Given the description of an element on the screen output the (x, y) to click on. 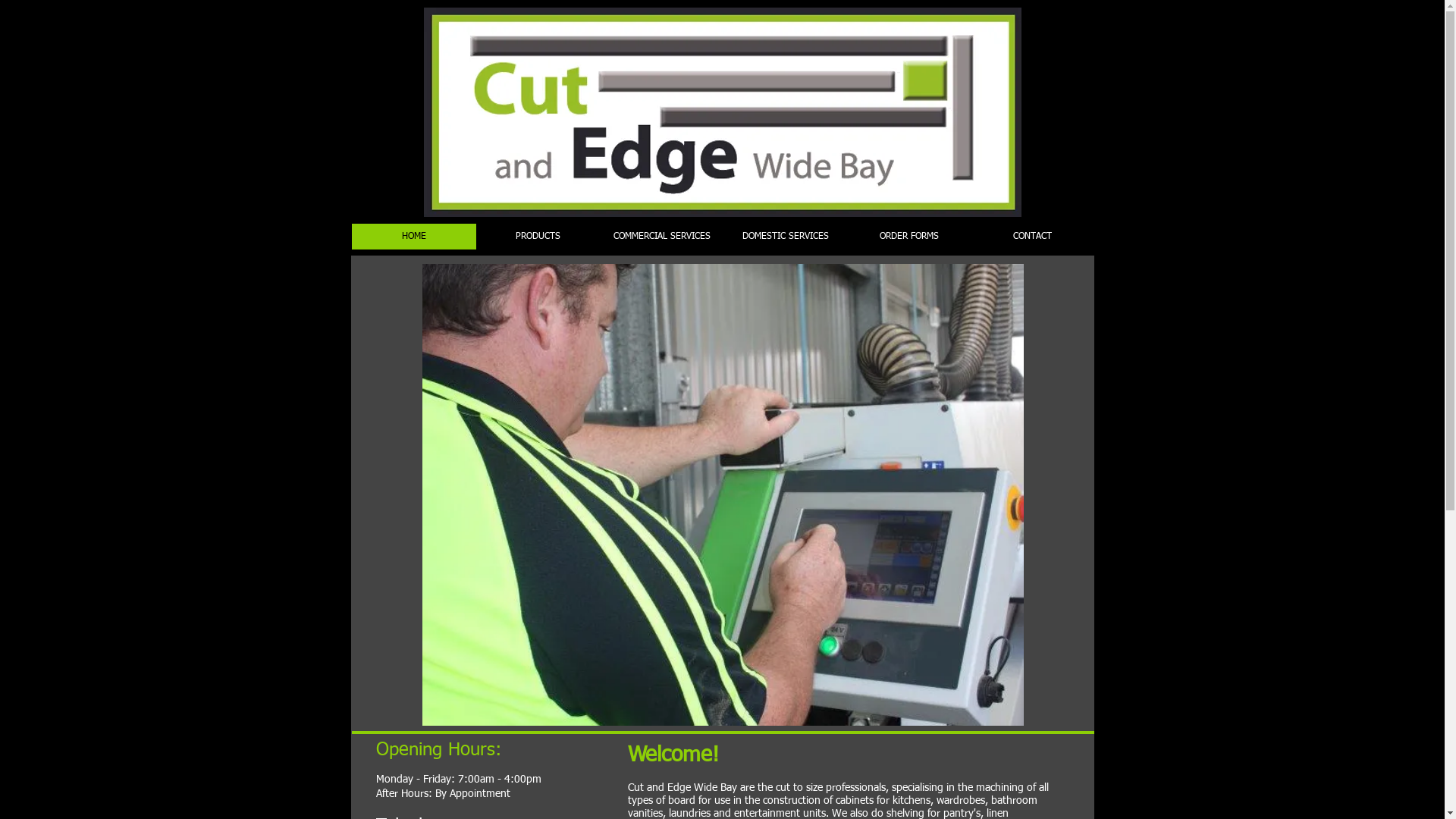
DOMESTIC SERVICES Element type: text (785, 236)
HOME Element type: text (413, 236)
CONTACT Element type: text (1032, 236)
ORDER FORMS Element type: text (907, 236)
Cut and Edge Wide Bay Element type: hover (722, 111)
PRODUCTS Element type: text (537, 236)
COMMERCIAL SERVICES Element type: text (660, 236)
